Given the description of an element on the screen output the (x, y) to click on. 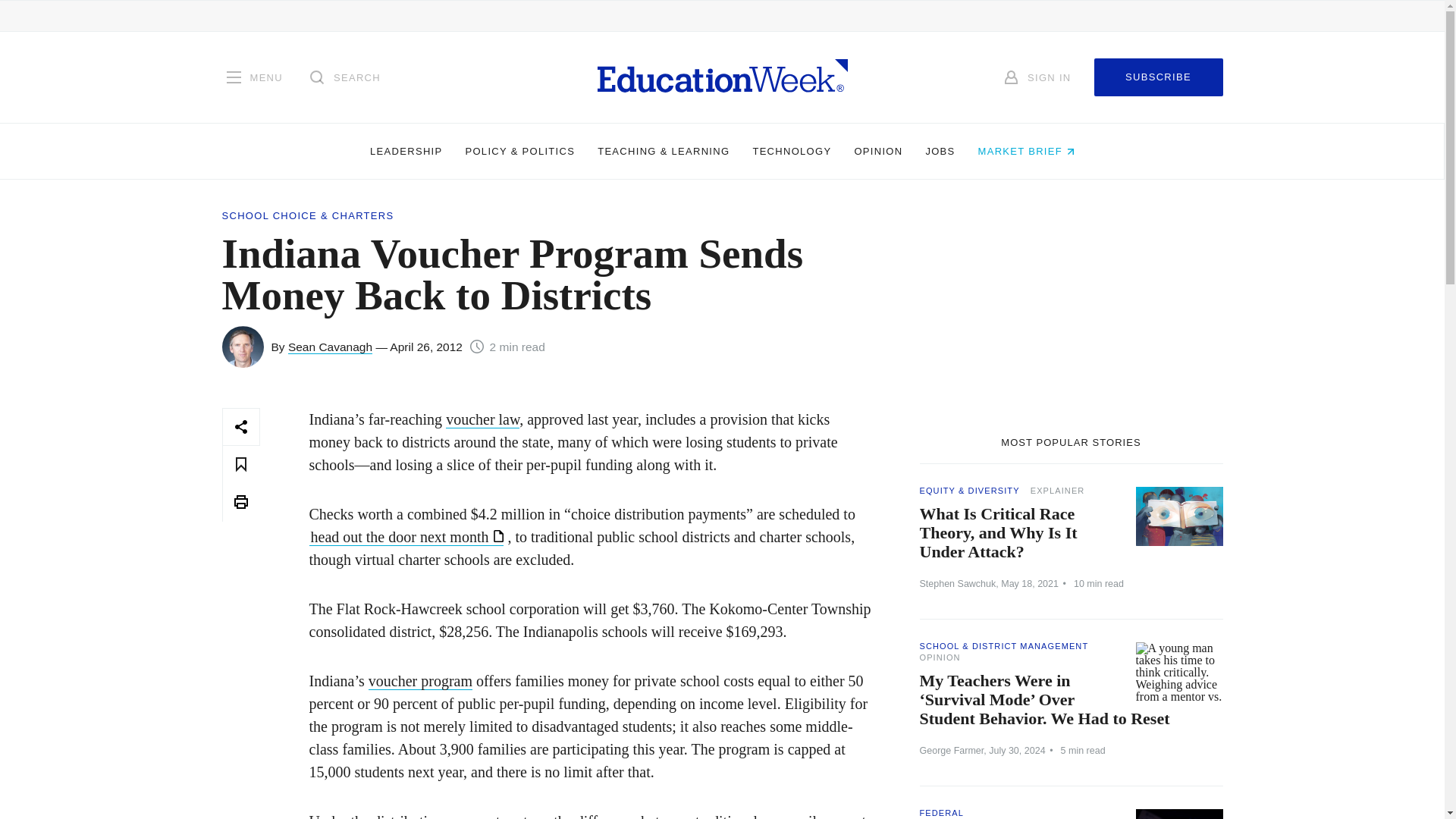
Homepage (721, 76)
